Given the description of an element on the screen output the (x, y) to click on. 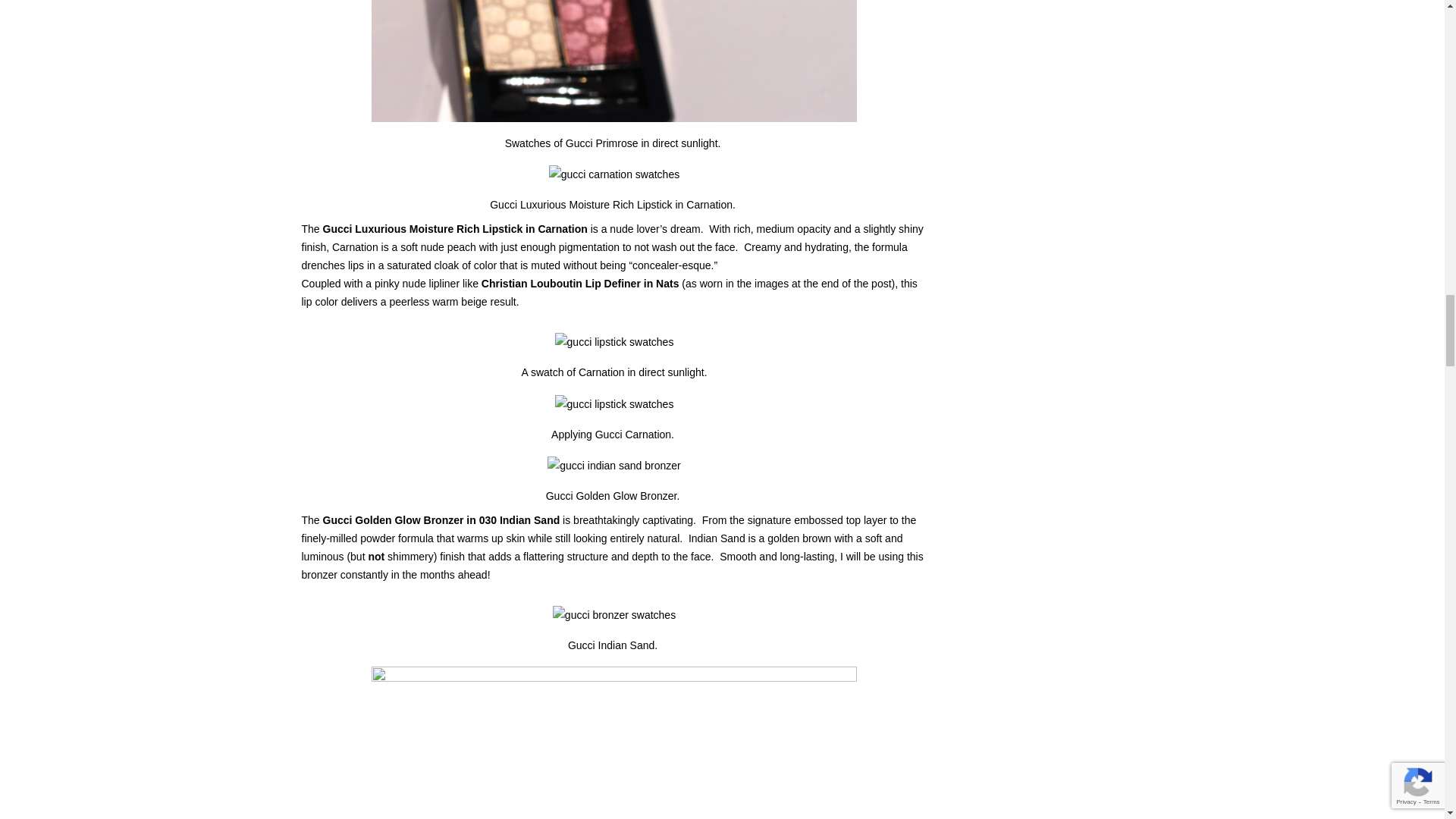
gucci carnation swatches (614, 341)
gucci eyeshadow duo primrose swatches (614, 61)
gucci carnation swatches (614, 403)
gucci indian sands (614, 615)
gucci carnation (613, 174)
gucci bronzer swatches (614, 465)
